Given the description of an element on the screen output the (x, y) to click on. 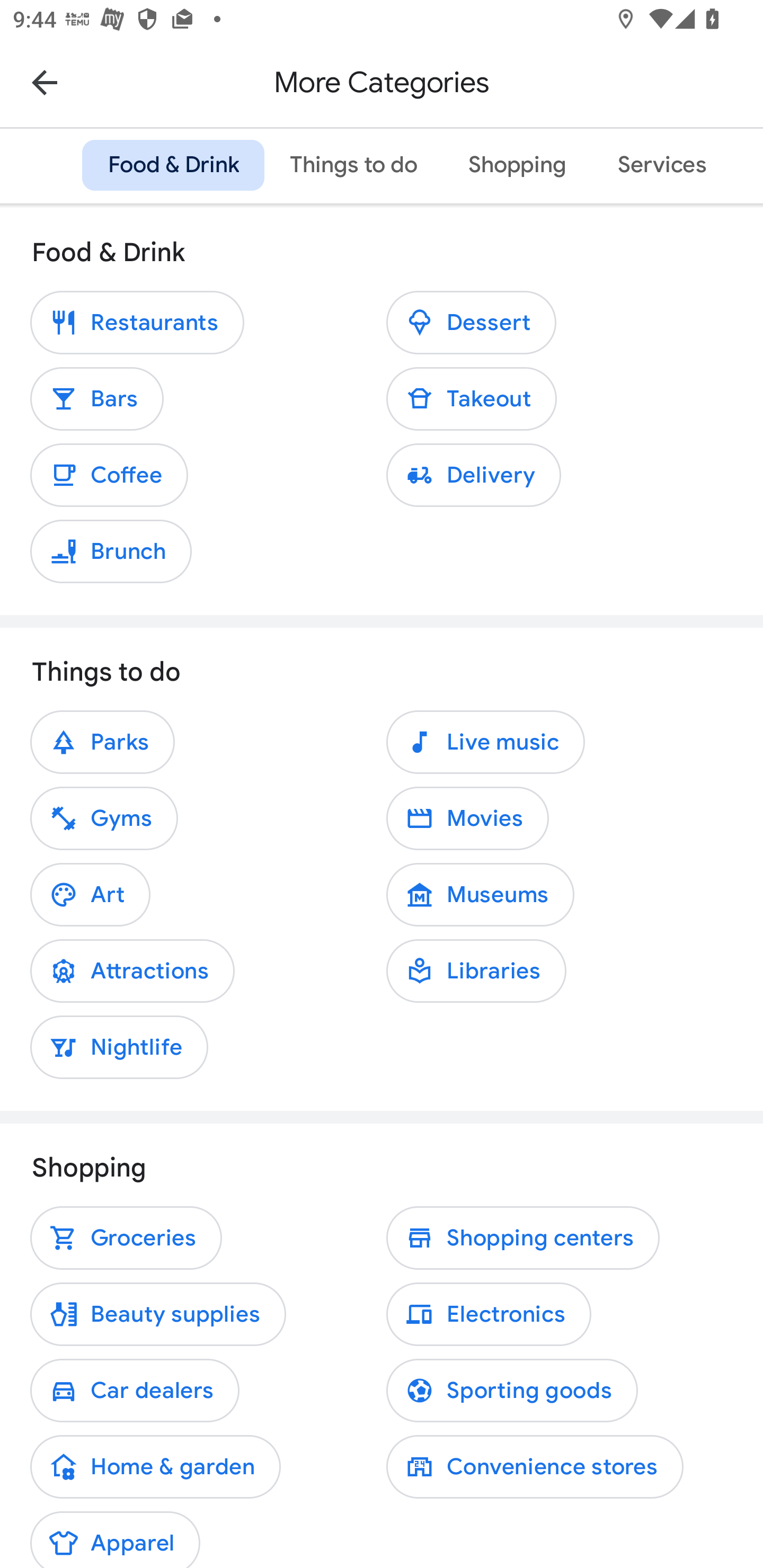
Navigate up (44, 82)
Things to do (353, 165)
Shopping (517, 165)
Services (661, 165)
Restaurants Restaurants Restaurants (137, 321)
Dessert Dessert Dessert (471, 321)
Bars Bars Bars (97, 398)
Takeout Takeout Takeout (471, 398)
Coffee Coffee Coffee (109, 474)
Delivery Delivery Delivery (473, 474)
Brunch Brunch Brunch (110, 550)
Parks Parks Parks (102, 742)
Live music Live music Live music (485, 742)
Gyms Gyms Gyms (103, 818)
Movies Movies Movies (467, 818)
Art Art Art (90, 894)
Museums Museums Museums (480, 894)
Attractions Attractions Attractions (132, 970)
Libraries Libraries Libraries (476, 970)
Nightlife Nightlife Nightlife (119, 1047)
Groceries Groceries Groceries (126, 1237)
Shopping centers Shopping centers Shopping centers (522, 1237)
Beauty supplies Beauty supplies Beauty supplies (158, 1313)
Electronics Electronics Electronics (488, 1313)
Car dealers Car dealers Car dealers (134, 1389)
Sporting goods Sporting goods Sporting goods (511, 1389)
Home & garden Home & garden Home & garden (155, 1466)
Apparel Apparel Apparel (114, 1536)
